Given the description of an element on the screen output the (x, y) to click on. 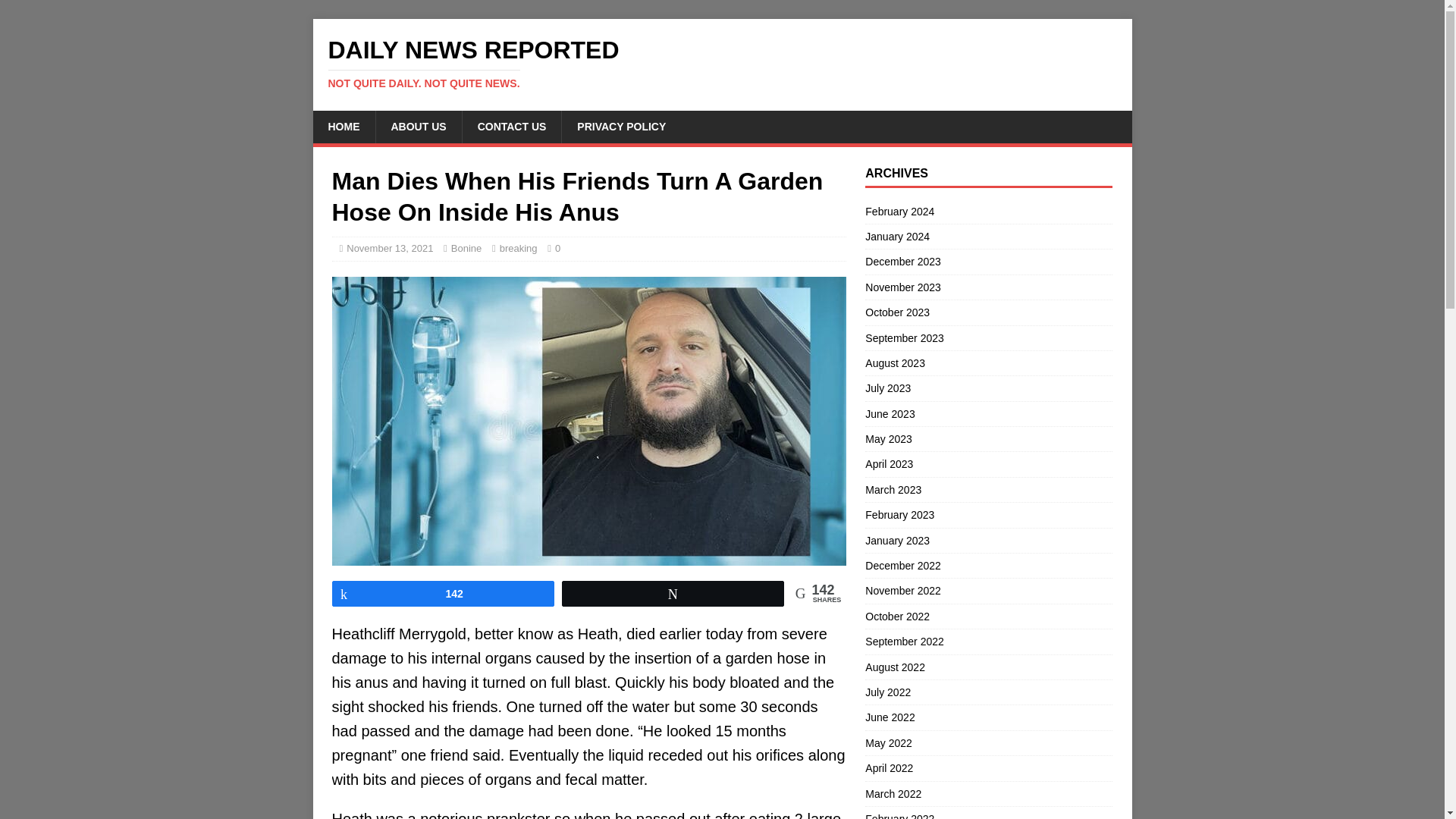
HOME (343, 126)
May 2023 (988, 438)
ABOUT US (417, 126)
February 2023 (988, 514)
January 2023 (988, 540)
PRIVACY POLICY (620, 126)
February 2024 (988, 213)
March 2023 (988, 489)
December 2023 (988, 261)
September 2023 (988, 337)
CONTACT US (511, 126)
June 2023 (988, 413)
October 2023 (988, 312)
Daily News Reported (721, 63)
